Given the description of an element on the screen output the (x, y) to click on. 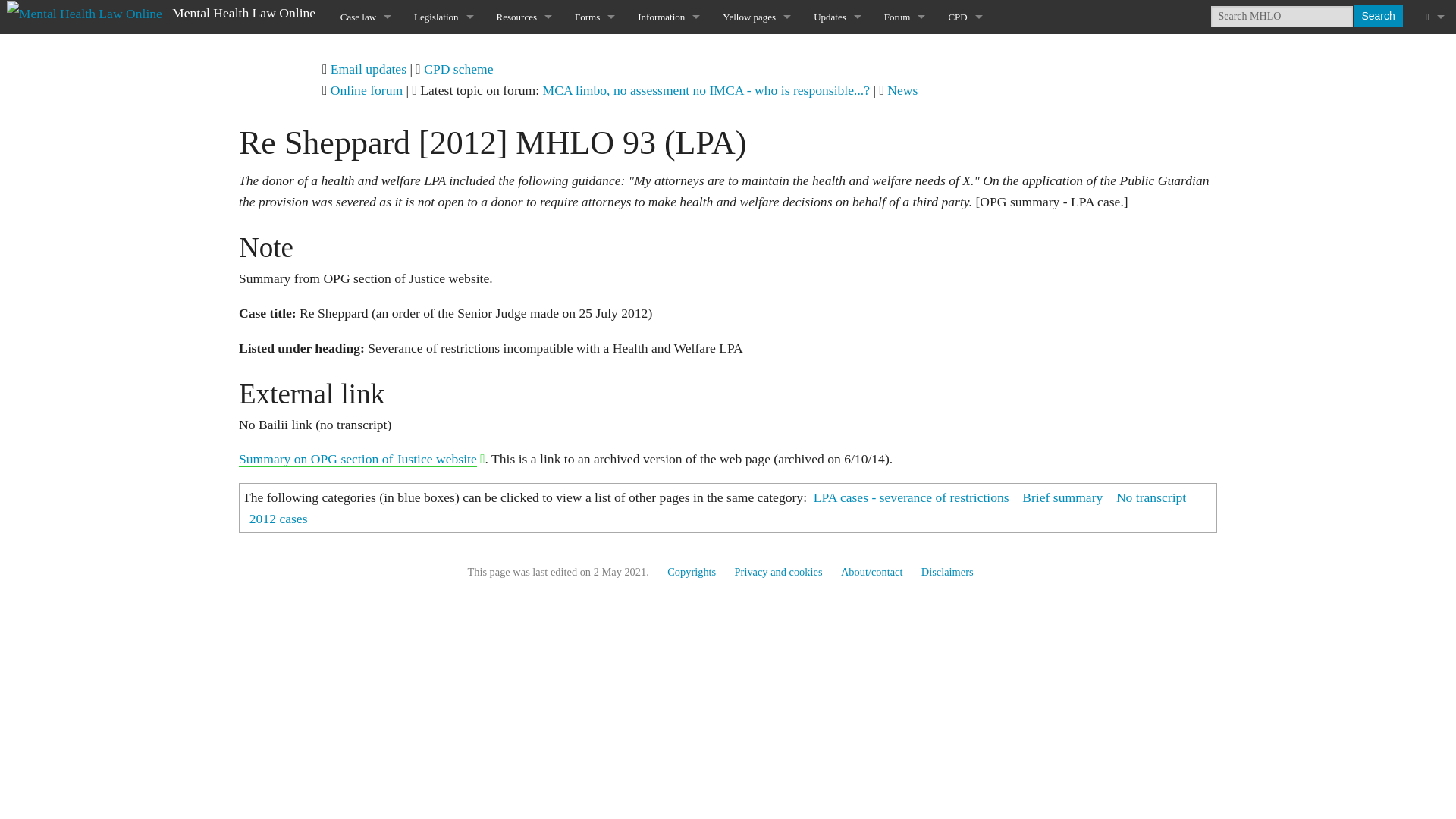
Legal Aid forms (594, 255)
MCA Codes of Practice (523, 187)
Liberty Protection Safeguards (668, 153)
Browse resources (523, 50)
Browse case law (366, 50)
Browse legislation (443, 50)
Consultations (523, 255)
Resources (523, 17)
Contact:Mental Health Tribunal (668, 187)
Books (756, 50)
